Given the description of an element on the screen output the (x, y) to click on. 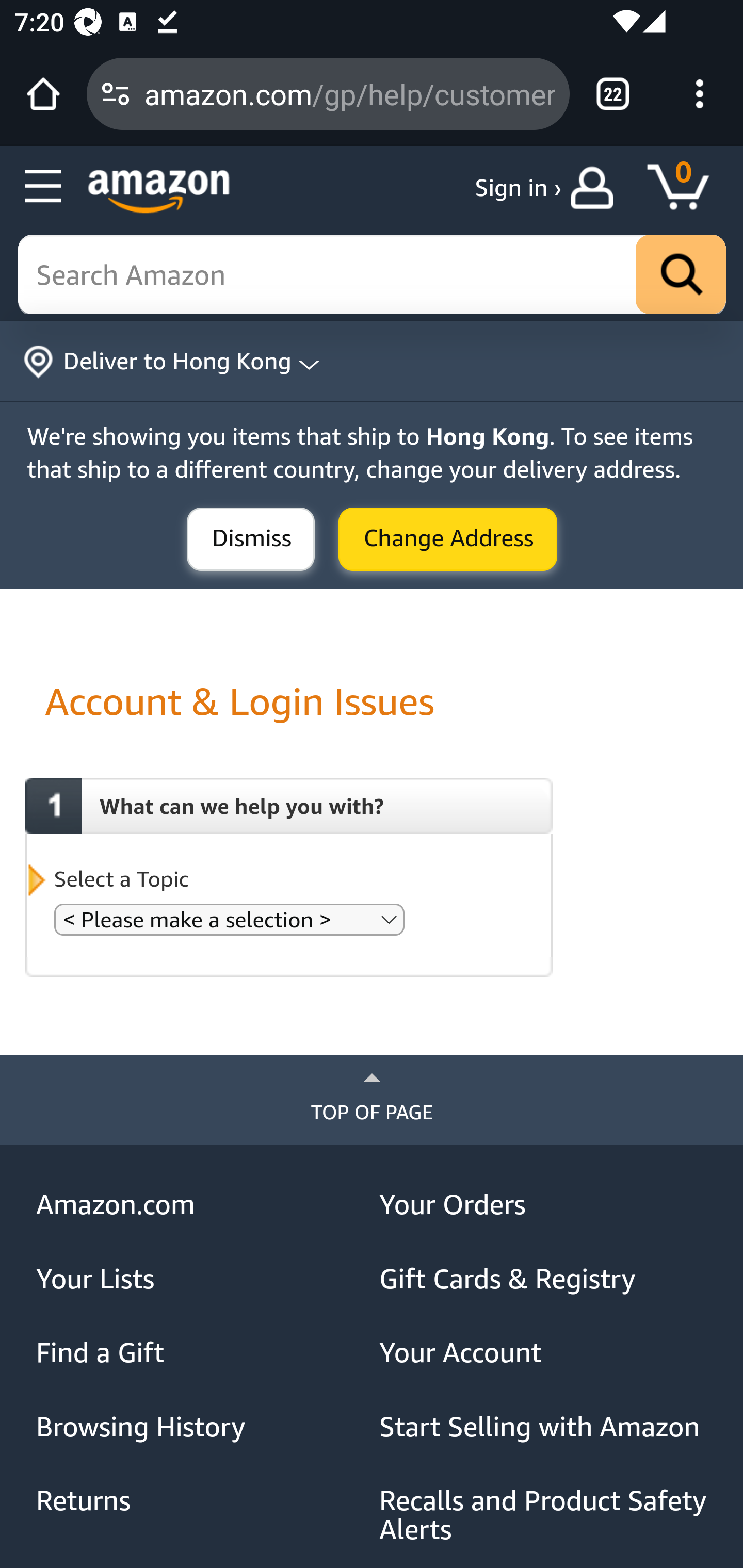
Open the home page (43, 93)
Connection is secure (115, 93)
Switch or close tabs (612, 93)
Customize and control Google Chrome (699, 93)
Open Menu (44, 187)
Sign in › (518, 188)
your account (596, 188)
Cart 0 (687, 188)
Amazon (158, 191)
Go (681, 275)
Submit (250, 539)
Submit (447, 539)
< Please make a selection > (229, 919)
Top of page TOP OF PAGE (371, 1099)
Amazon.com (201, 1204)
Your Orders (543, 1204)
Your Lists (201, 1278)
Gift Cards & Registry (543, 1278)
Find a Gift (201, 1352)
Your Account (543, 1352)
Browsing History (201, 1426)
Start Selling with Amazon (543, 1426)
Returns (201, 1500)
Recalls and Product Safety Alerts (543, 1515)
